Given the description of an element on the screen output the (x, y) to click on. 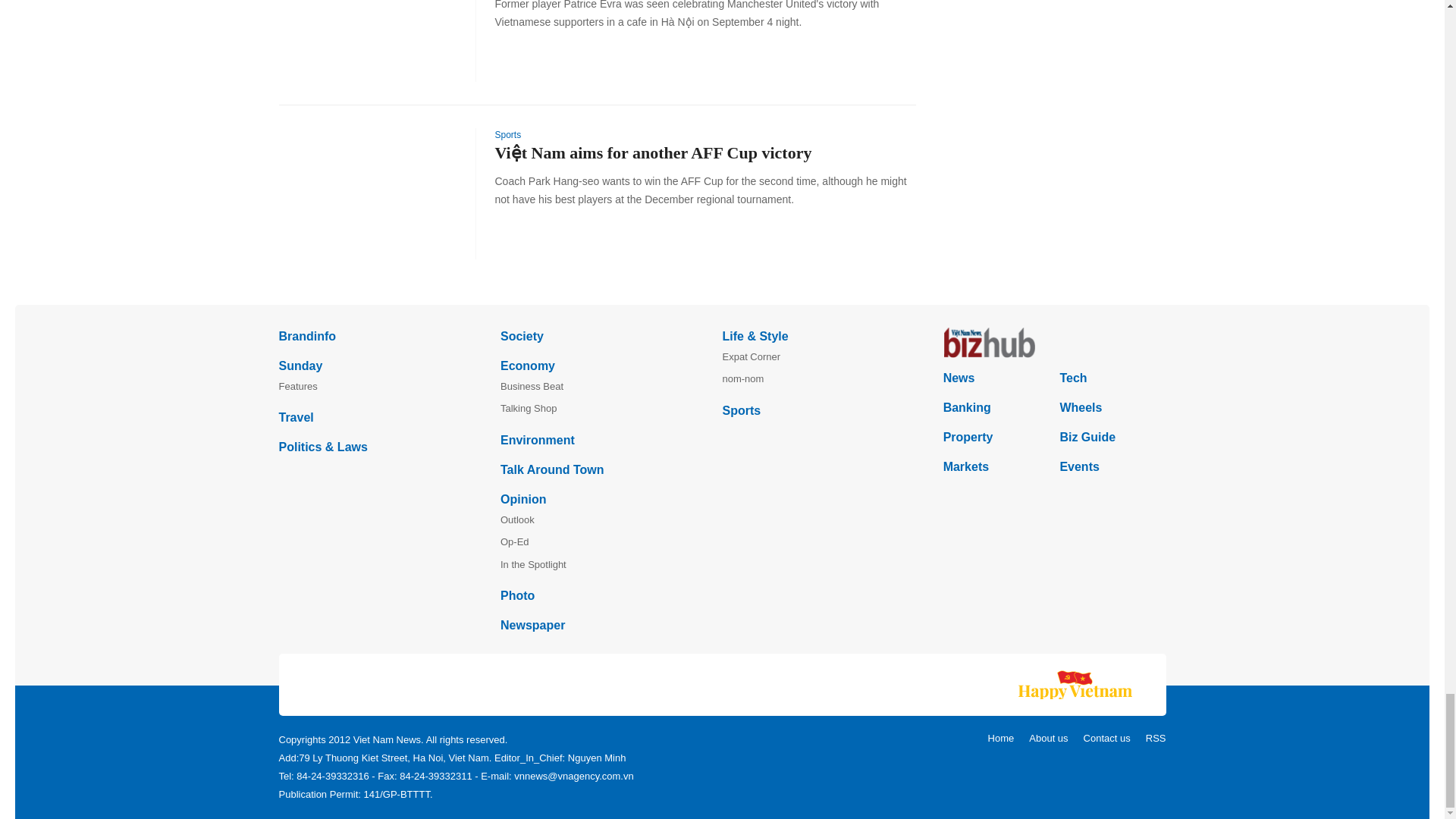
bizhub (1054, 342)
